Given the description of an element on the screen output the (x, y) to click on. 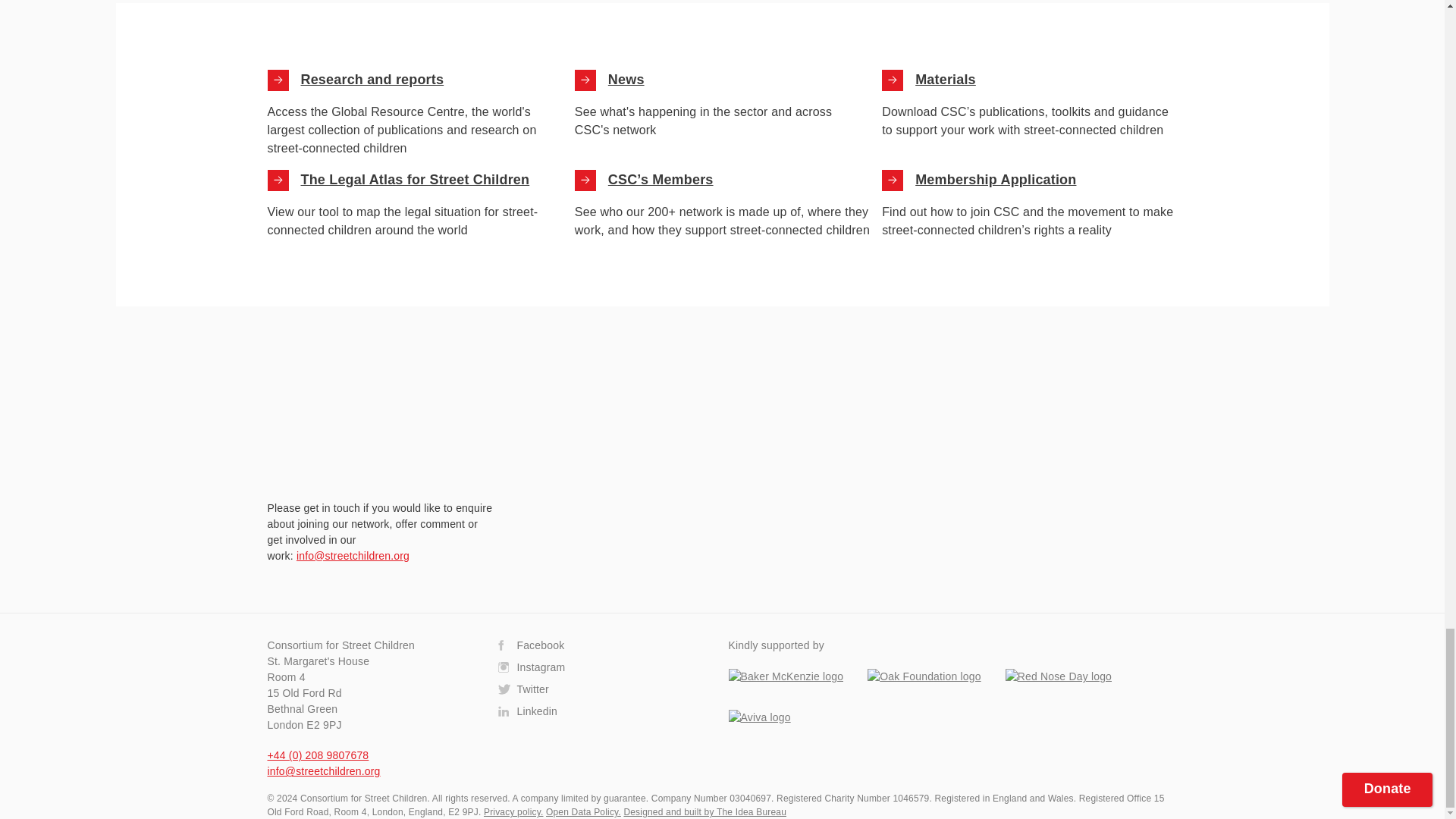
Go to content (585, 79)
Go to content (892, 79)
Go to content (277, 79)
